Given the description of an element on the screen output the (x, y) to click on. 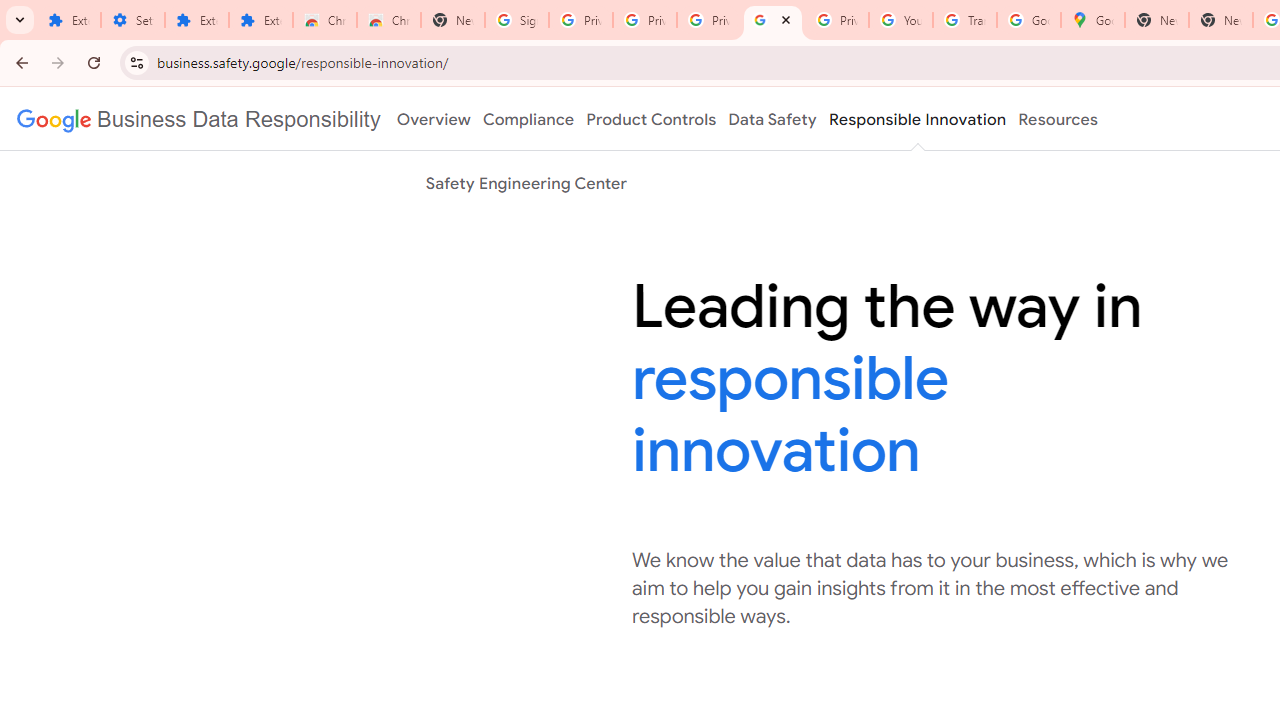
Product Controls (651, 119)
Sign in - Google Accounts (517, 20)
Data Safety (772, 119)
Safety Engineering Center (526, 183)
Compliance (528, 119)
New Tab (1221, 20)
Google Maps (1093, 20)
Extensions (69, 20)
